Given the description of an element on the screen output the (x, y) to click on. 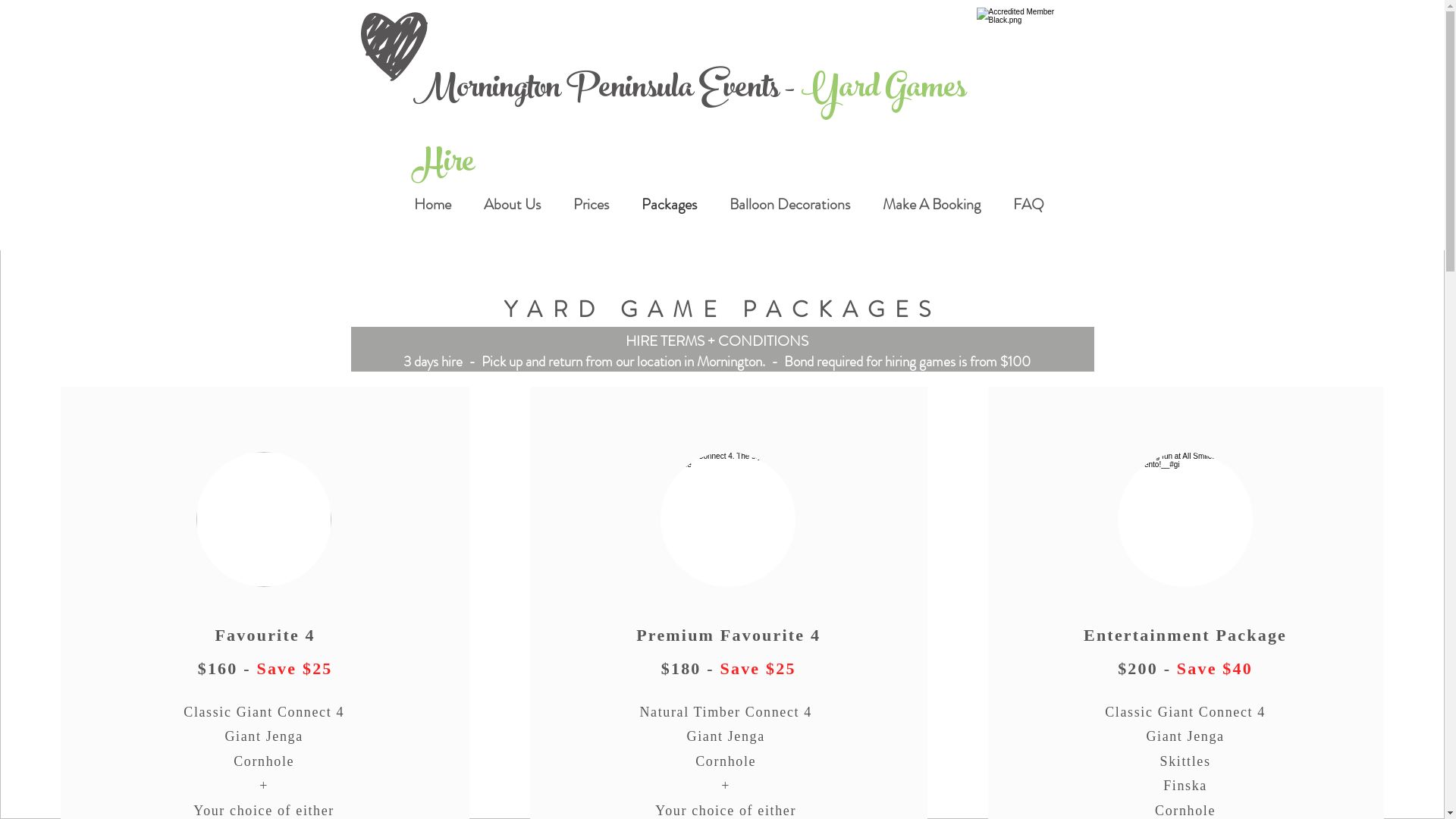
Home Element type: text (432, 204)
Prices Element type: text (590, 204)
Balloon Decorations Element type: text (789, 204)
About Us Element type: text (511, 204)
Packages Element type: text (668, 204)
Make A Booking Element type: text (931, 204)
FAQ Element type: text (1027, 204)
